Given the description of an element on the screen output the (x, y) to click on. 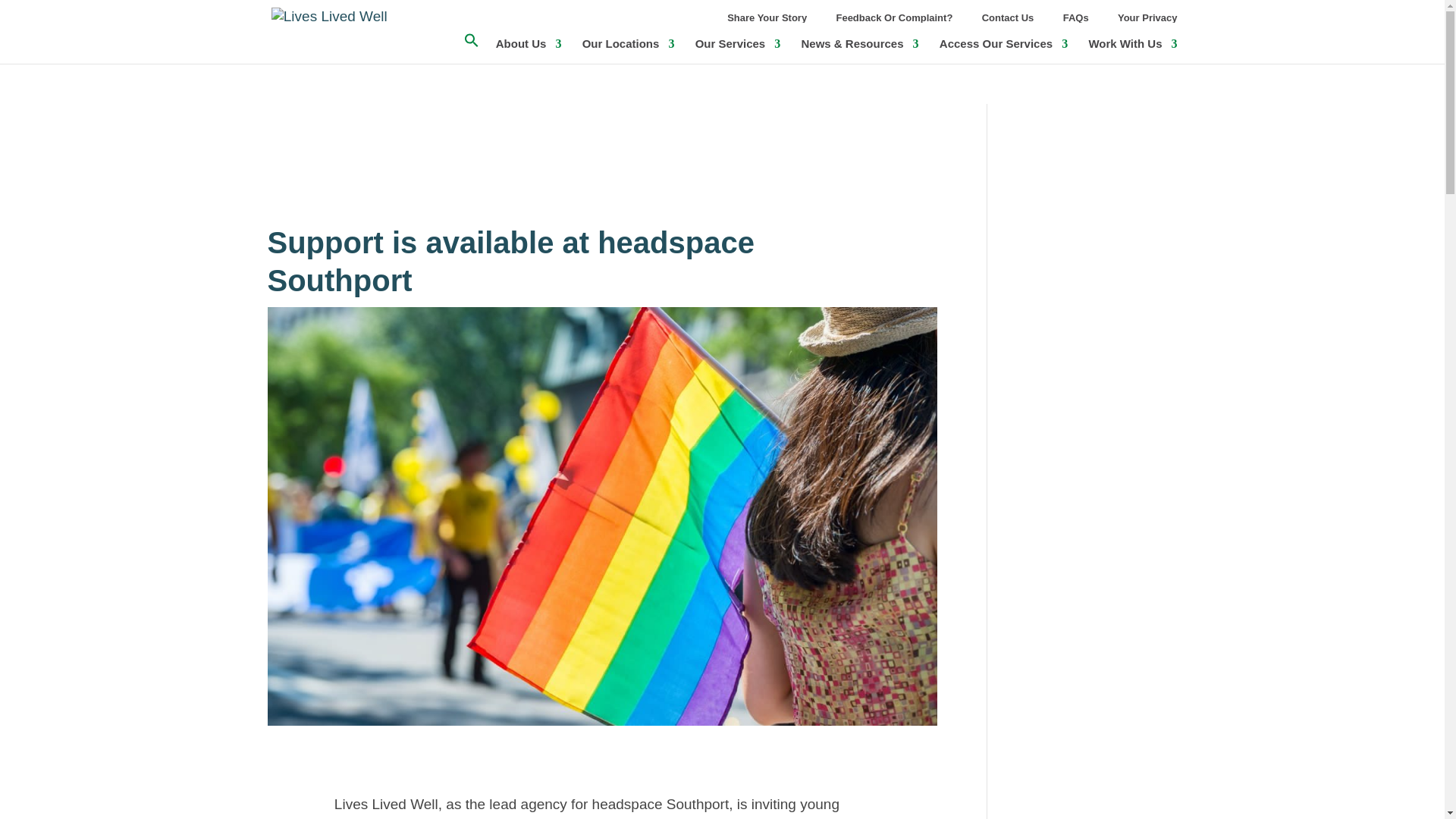
Feedback Or Complaint? (893, 21)
About Us (529, 49)
Our Locations (628, 49)
Contact Us (1007, 21)
Share Your Story (766, 21)
Your Privacy (1147, 21)
1300 727 957 (951, 60)
Our Services (737, 49)
